Given the description of an element on the screen output the (x, y) to click on. 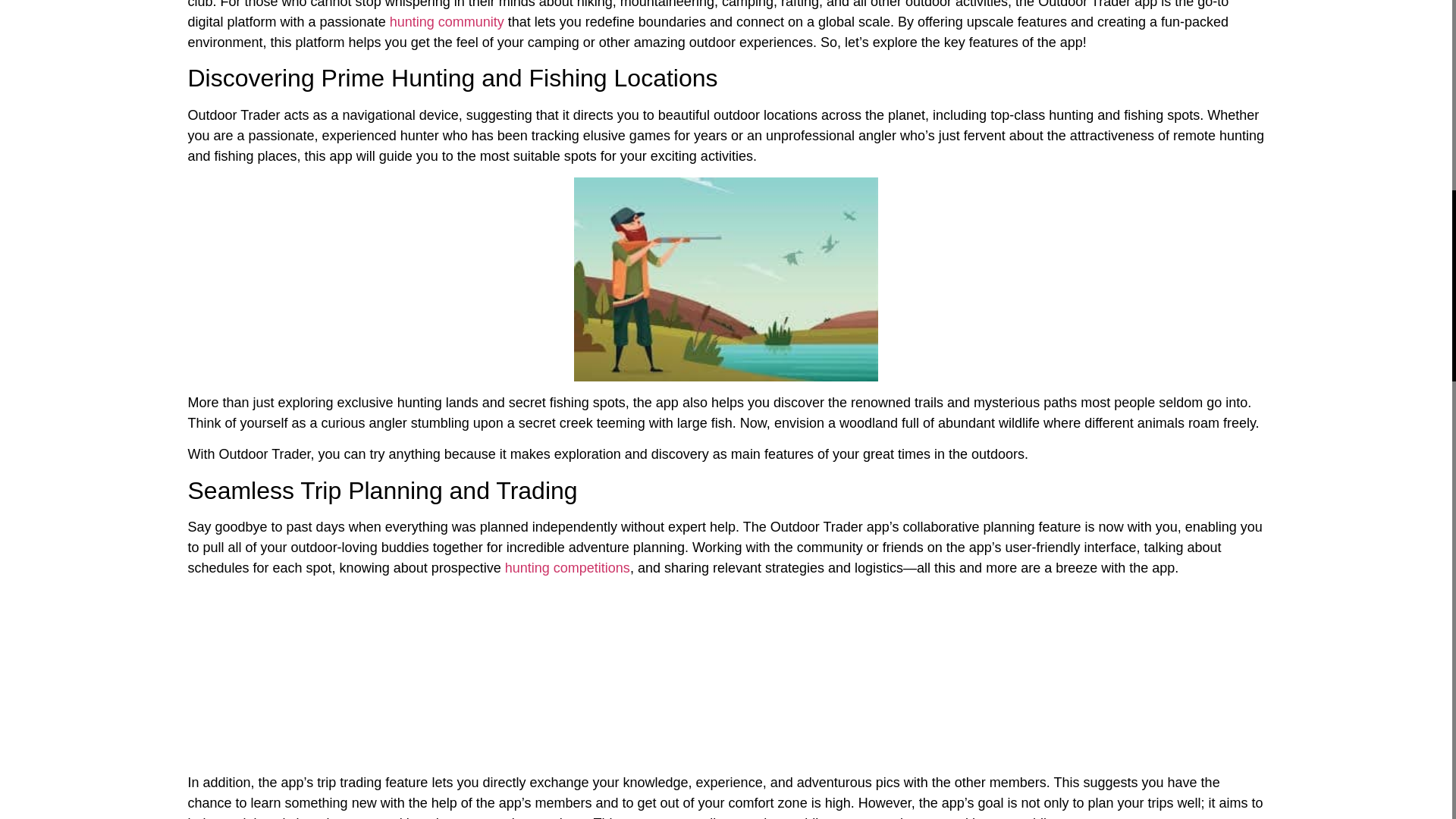
hunting community (446, 21)
hunting competitions (567, 567)
